Given the description of an element on the screen output the (x, y) to click on. 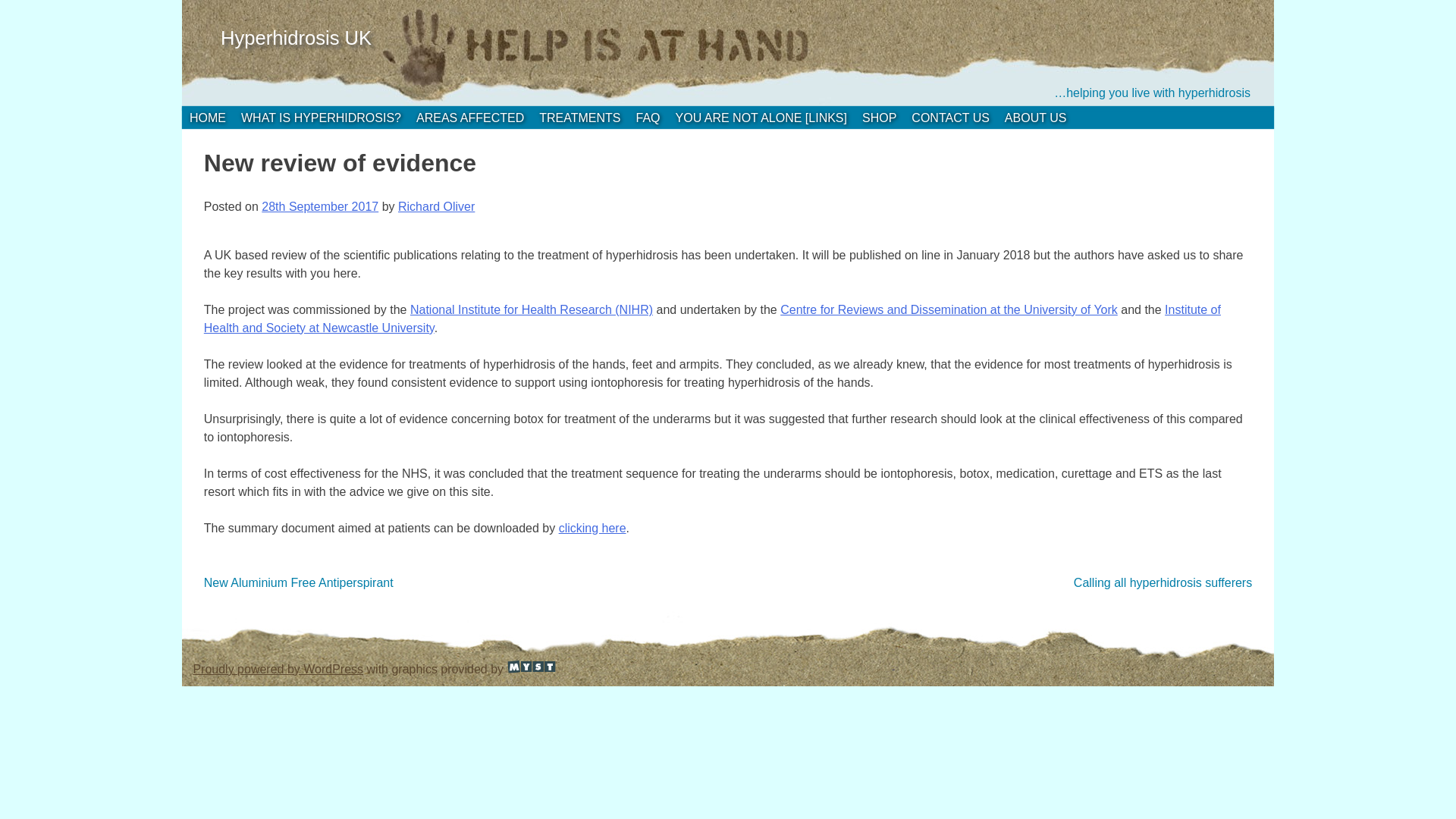
HOME (208, 117)
AREAS AFFECTED (469, 117)
Hyperhidrosis UK (296, 37)
SHOP (879, 117)
TREATMENTS (579, 117)
CONTACT US (949, 117)
WHAT IS HYPERHIDROSIS? (320, 117)
ABOUT US (1035, 117)
FAQ (647, 117)
28th September 2017 (320, 205)
